Given the description of an element on the screen output the (x, y) to click on. 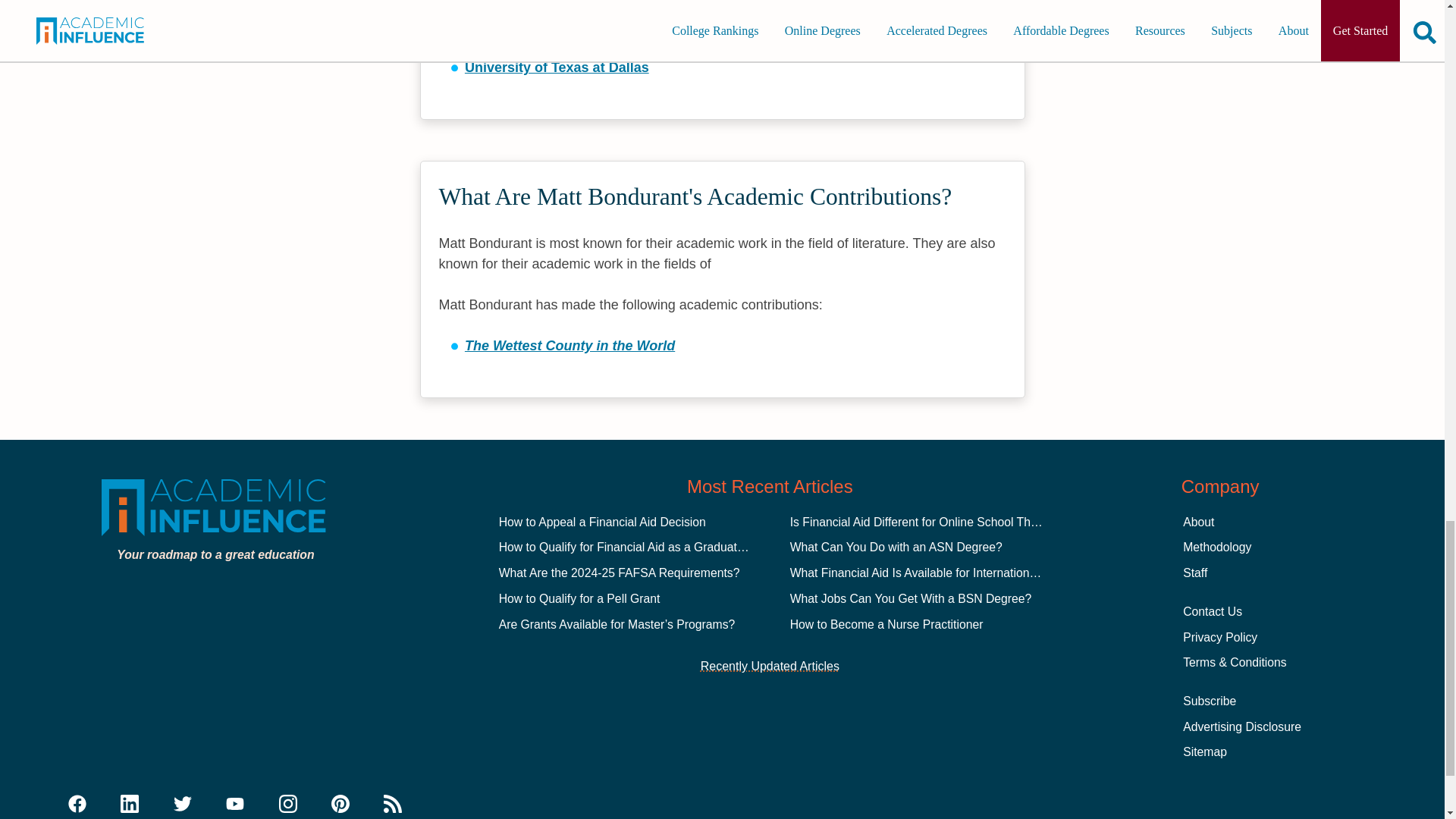
University of Texas at Dallas (556, 67)
Methodology (1216, 546)
What Jobs Can You Get With a BSN Degree? (911, 598)
Subscribe (1209, 700)
What Can You Do with an ASN Degree? (896, 546)
How to Qualify for a Pell Grant (580, 598)
How to Become a Nurse Practitioner (887, 624)
What Financial Aid Is Available for International Students? (943, 572)
Is Financial Aid Different for Online School Than In-Person? (947, 521)
How to Qualify for Financial Aid as a Graduate Student (644, 546)
